Given the description of an element on the screen output the (x, y) to click on. 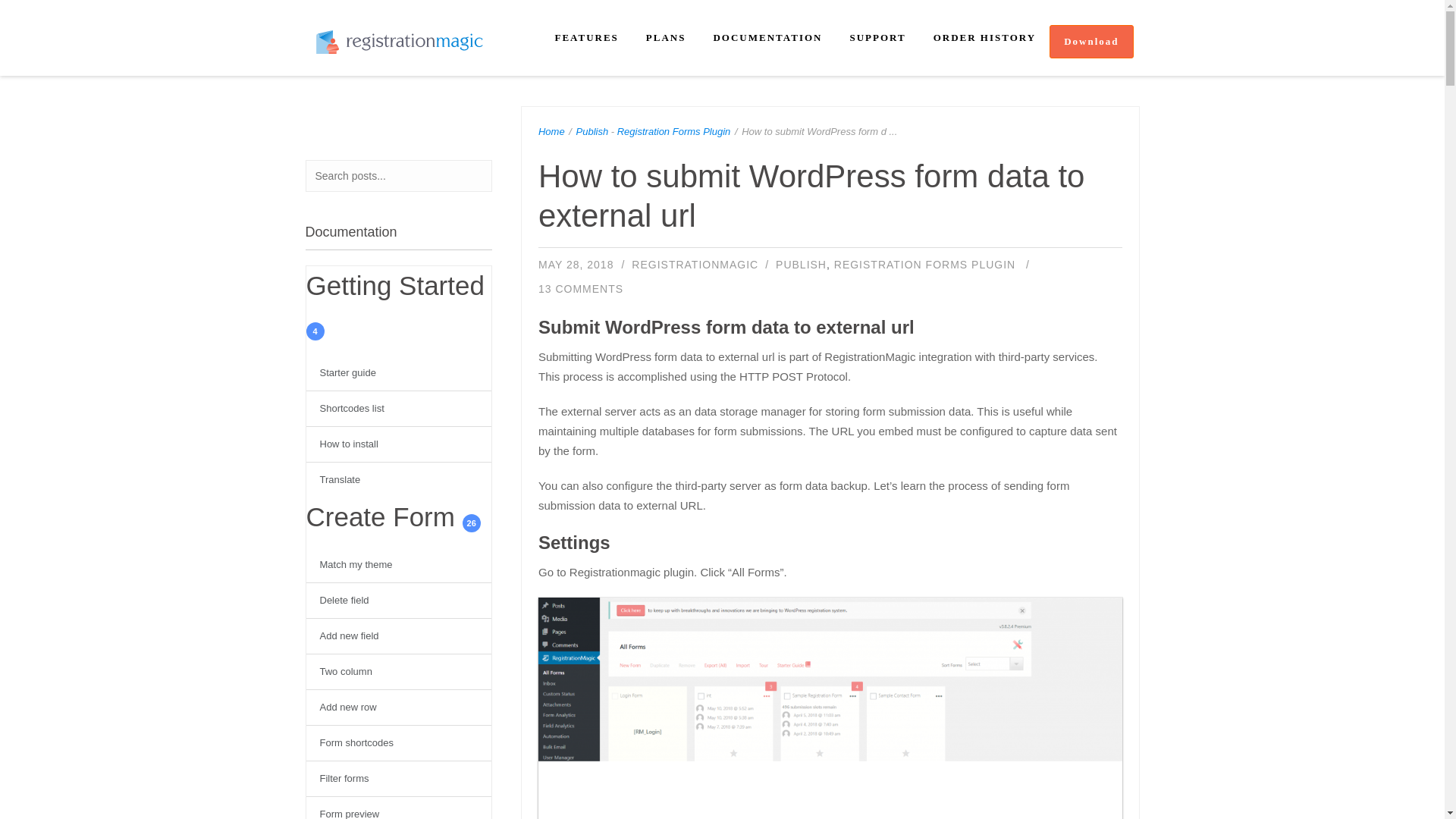
SUPPORT (876, 38)
RegistrationMagic (694, 264)
REGISTRATION FORMS PLUGIN (924, 264)
RegistrationMagic (399, 41)
Publish (592, 131)
PUBLISH (801, 264)
MAY 28, 2018 (576, 264)
FEATURES (585, 38)
Home (551, 131)
13 COMMENTS (580, 288)
